Given the description of an element on the screen output the (x, y) to click on. 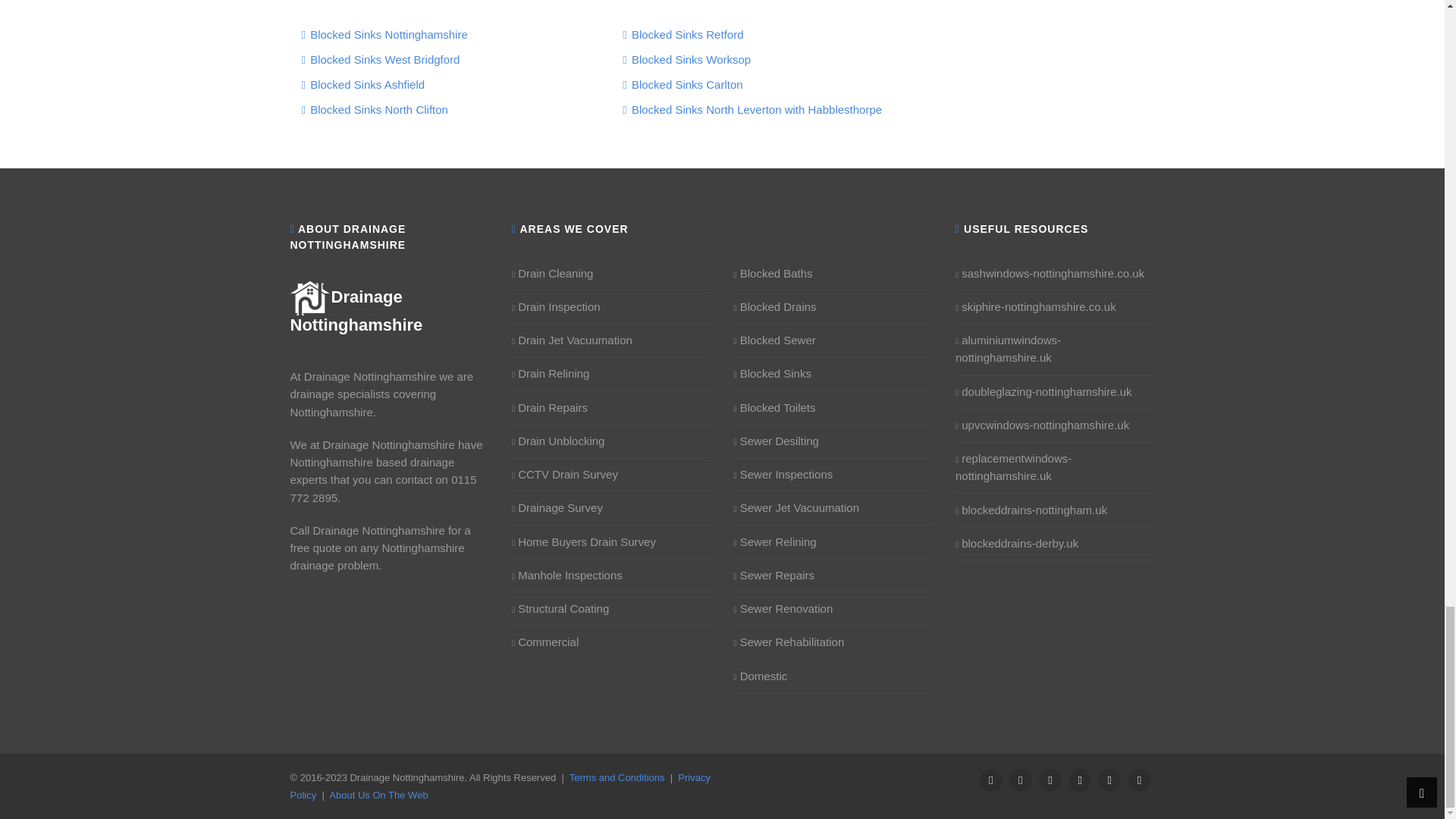
drainagenottinghamshire.uk (355, 310)
